Given the description of an element on the screen output the (x, y) to click on. 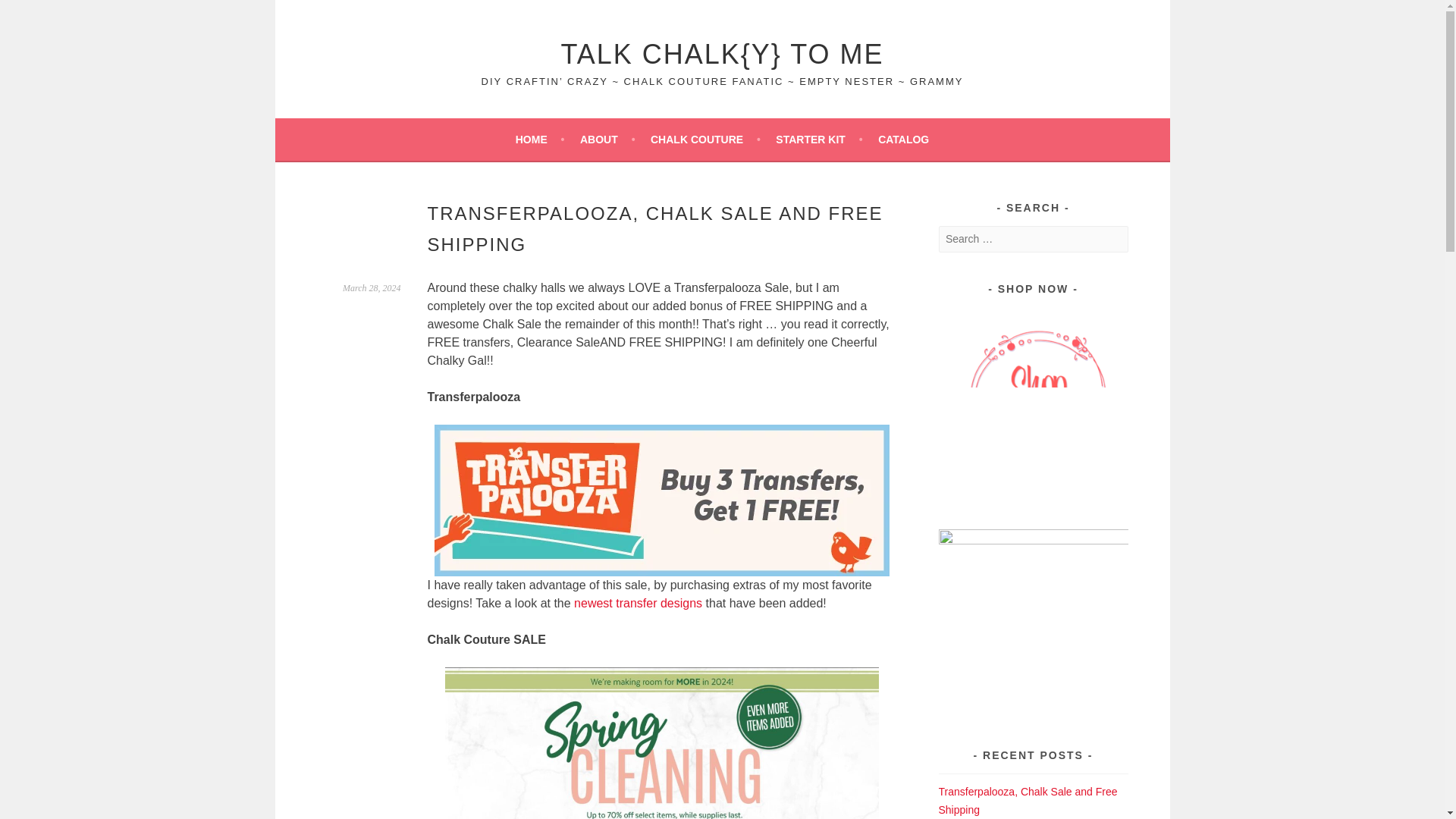
March 28, 2024 (371, 287)
Transferpalooza, Chalk Sale and Free Shipping (1028, 800)
STARTER KIT (818, 139)
CATALOG (902, 139)
HOME (539, 139)
newest transfer designs (637, 603)
Search (30, 13)
Permalink to Transferpalooza, Chalk Sale and Free Shipping (371, 287)
CHALK COUTURE (705, 139)
ABOUT (606, 139)
